Given the description of an element on the screen output the (x, y) to click on. 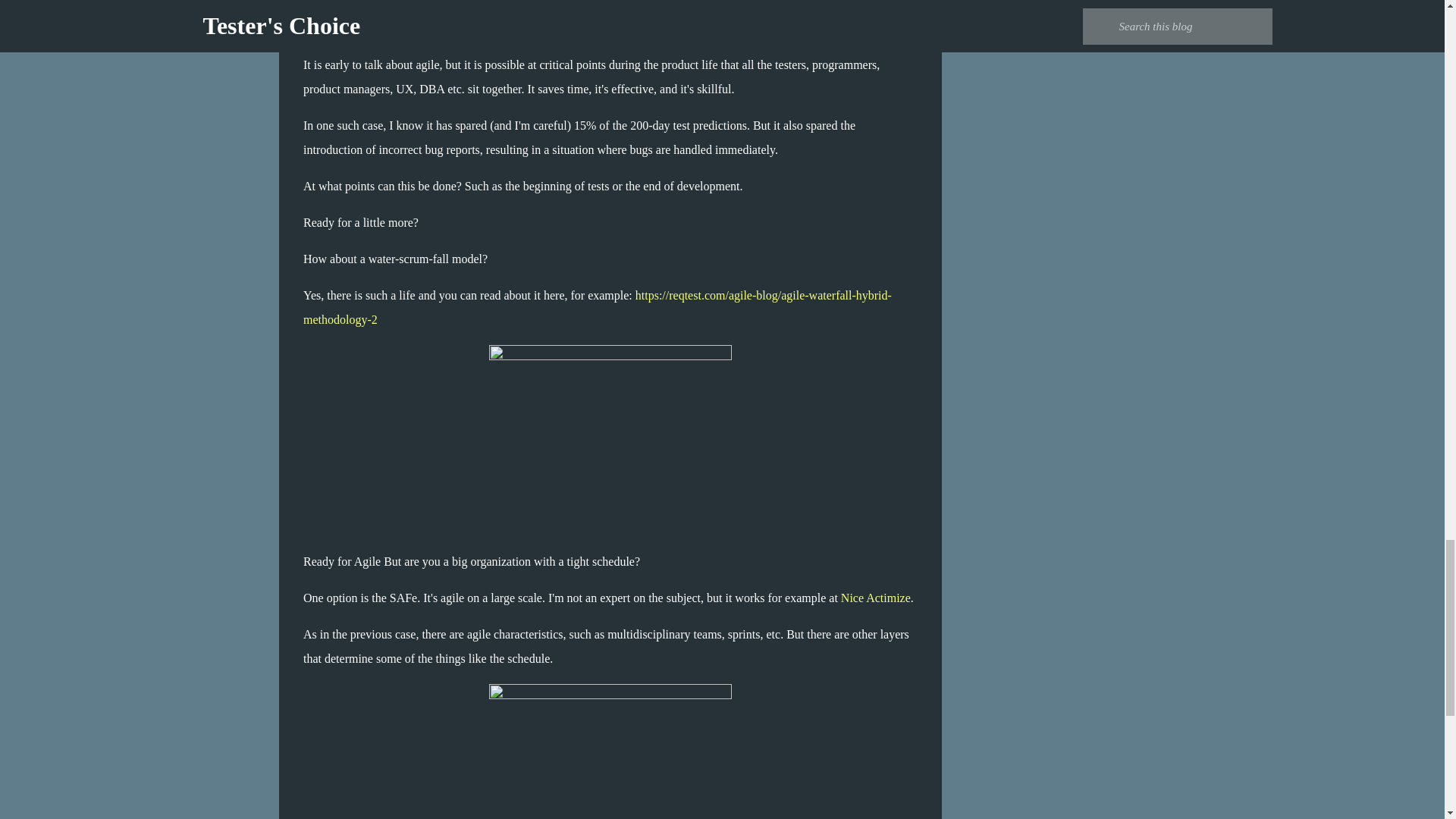
Nice Actimize (876, 597)
